Given the description of an element on the screen output the (x, y) to click on. 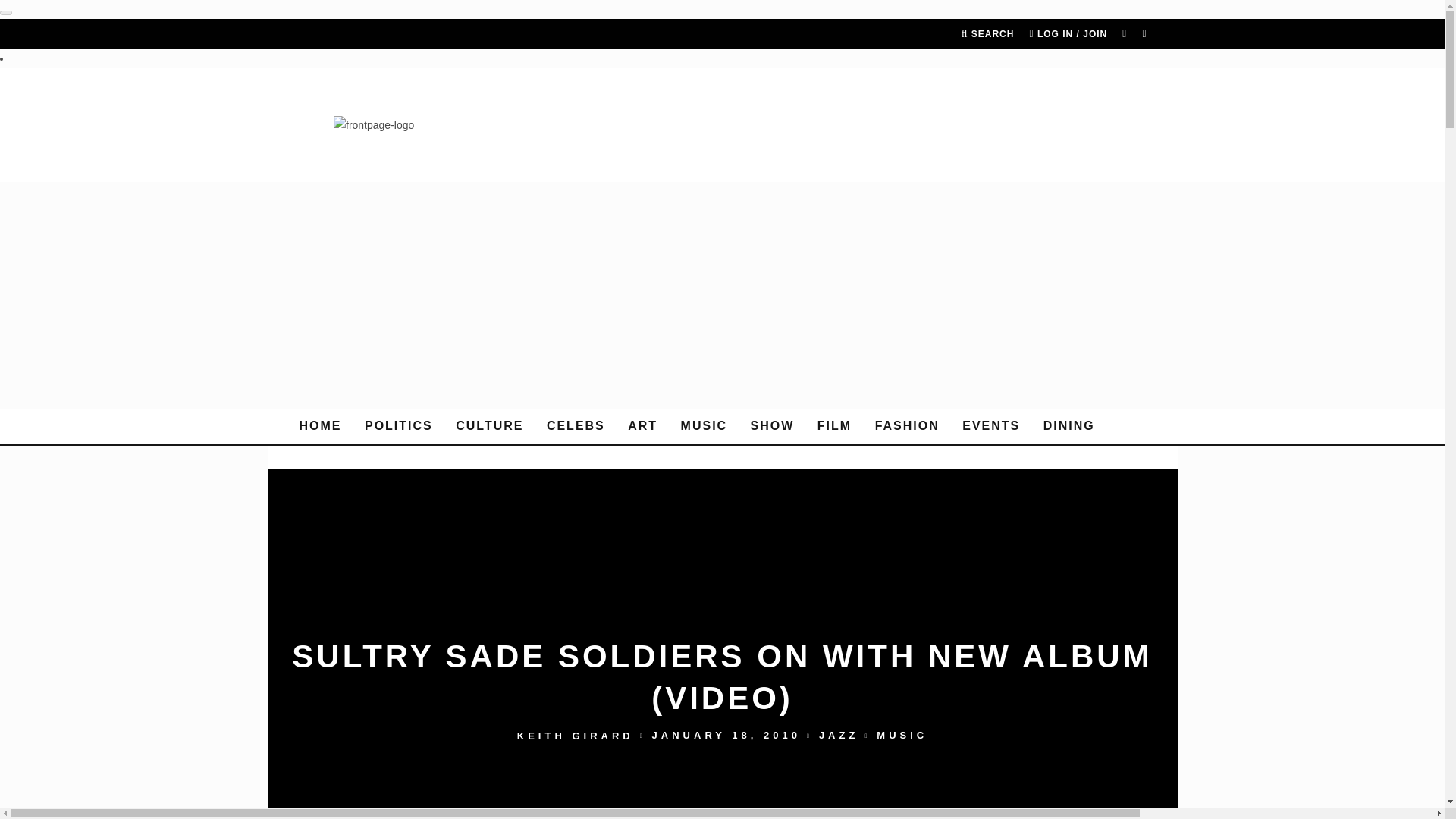
View all posts in Music (901, 736)
SEARCH (987, 33)
Search (987, 33)
View all posts in JAZZ (838, 736)
